Given the description of an element on the screen output the (x, y) to click on. 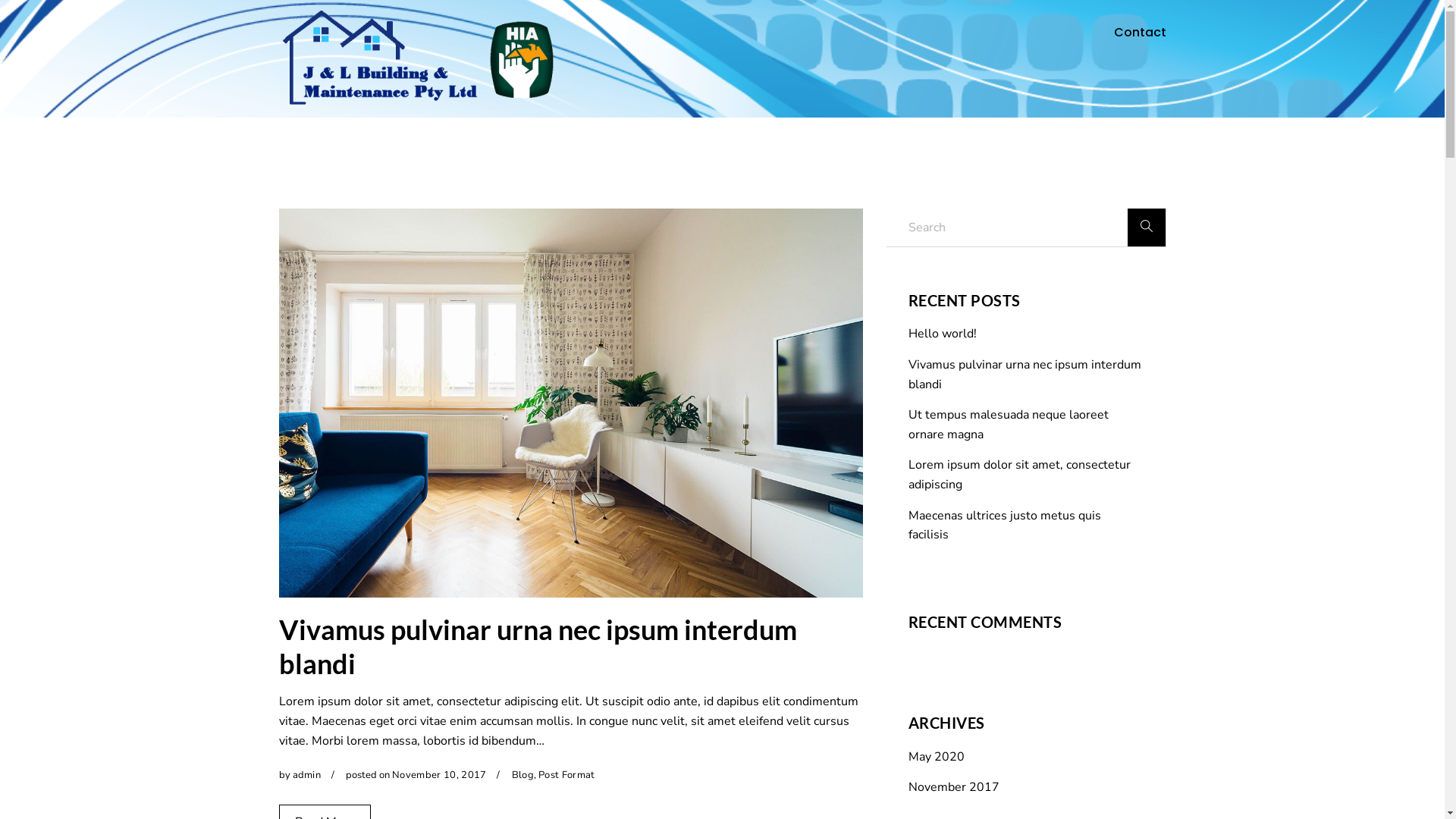
Vivamus pulvinar urna nec ipsum interdum blandi Element type: text (538, 646)
admin Element type: text (306, 774)
November 2017 Element type: text (953, 786)
Maecenas ultrices justo metus quis facilisis Element type: text (1025, 525)
Post Format Element type: text (566, 774)
November 10, 2017 Element type: text (439, 774)
Ut tempus malesuada neque laoreet ornare magna Element type: text (1025, 424)
Blog Element type: text (522, 774)
Hello world! Element type: text (1025, 334)
Lorem ipsum dolor sit amet, consectetur adipiscing Element type: text (1025, 474)
May 2020 Element type: text (936, 756)
Contact Element type: text (1139, 32)
Vivamus pulvinar urna nec ipsum interdum blandi Element type: text (1025, 374)
